Given the description of an element on the screen output the (x, y) to click on. 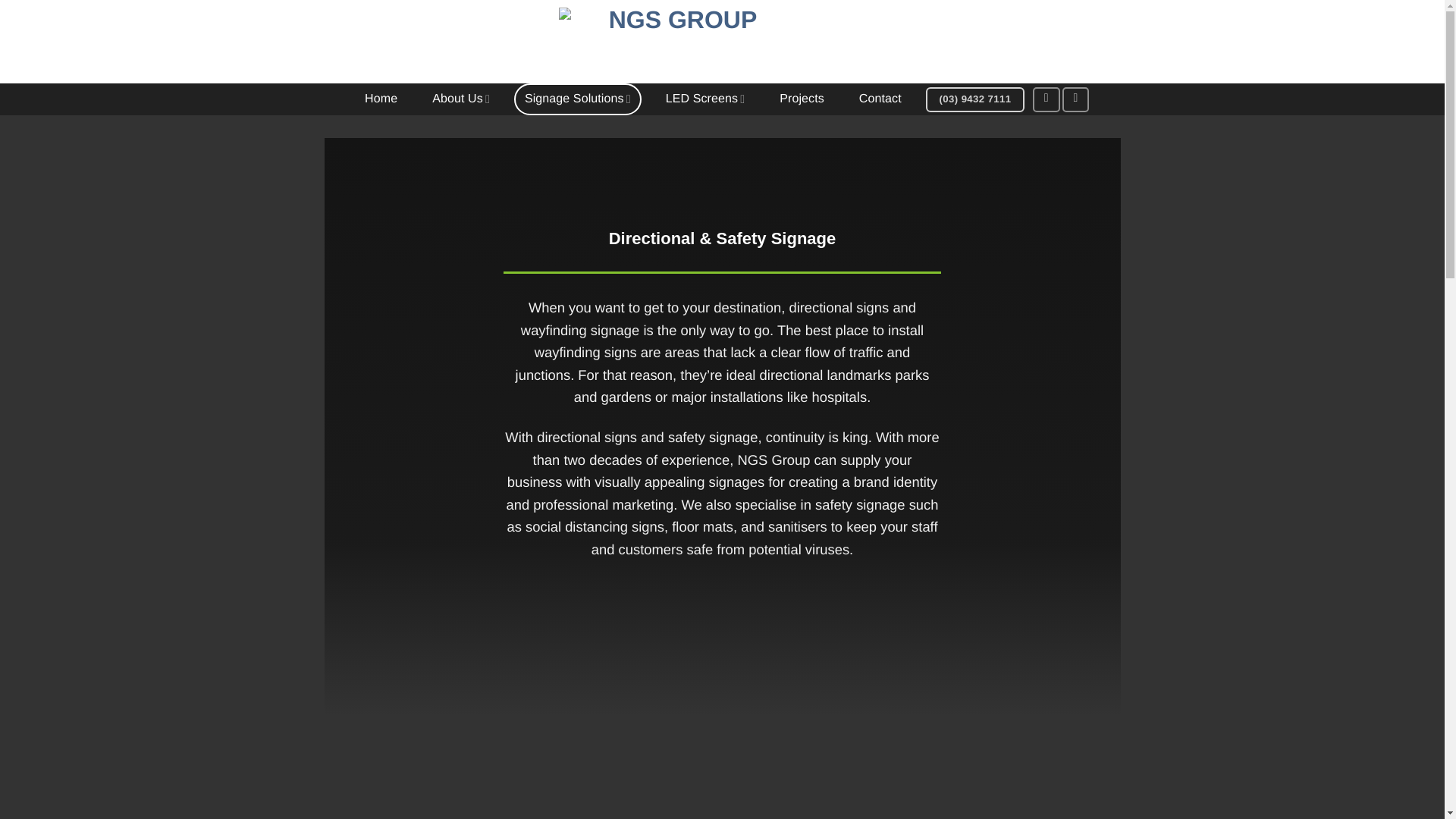
Signage Solutions (577, 99)
NGS Group (675, 41)
Projects (801, 99)
Home (380, 99)
About Us (461, 99)
Follow on Instagram (1075, 99)
Follow on Facebook (1045, 99)
LED Screens (705, 99)
Contact (880, 99)
